Given the description of an element on the screen output the (x, y) to click on. 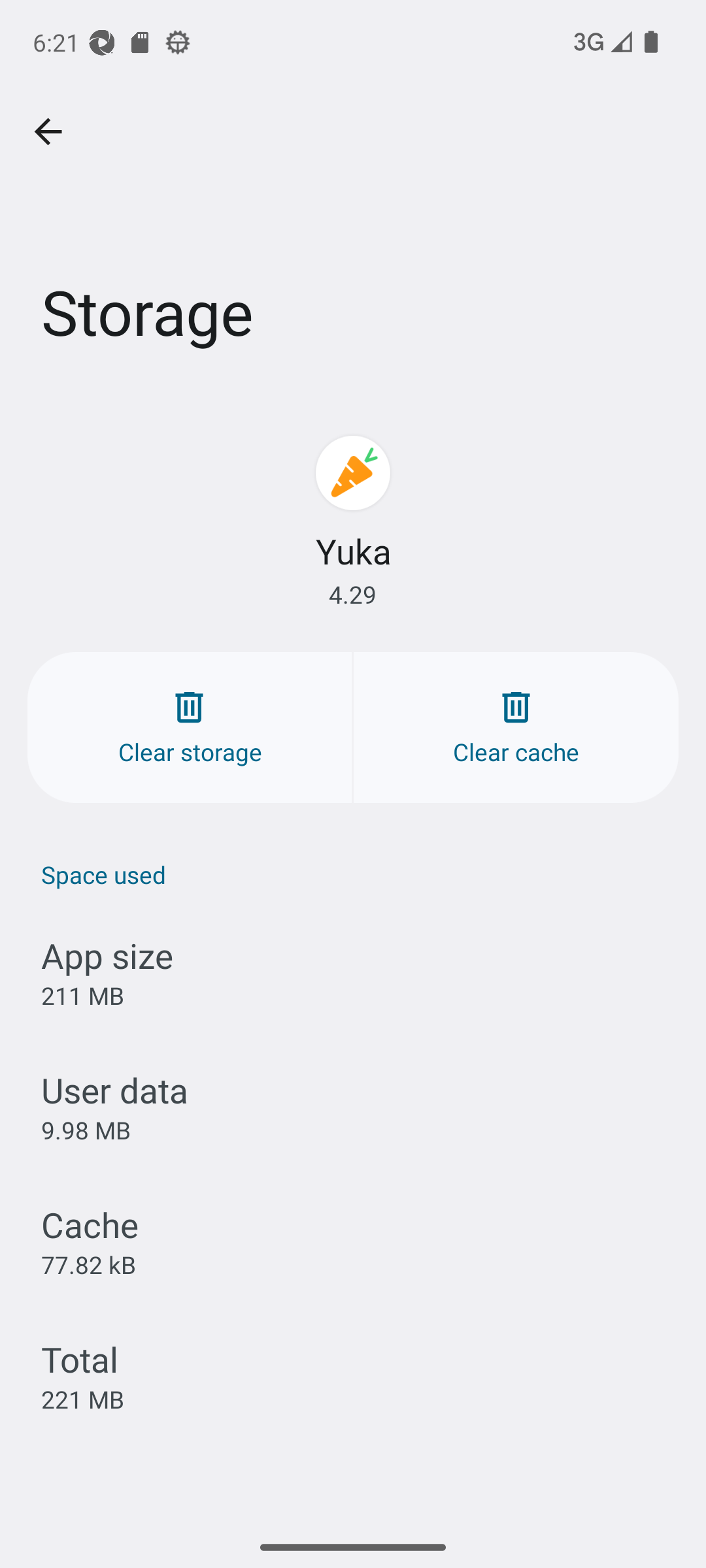
Navigate up (48, 131)
Yuka 4.29 (352, 521)
Clear storage (189, 727)
Clear cache (515, 727)
